Given the description of an element on the screen output the (x, y) to click on. 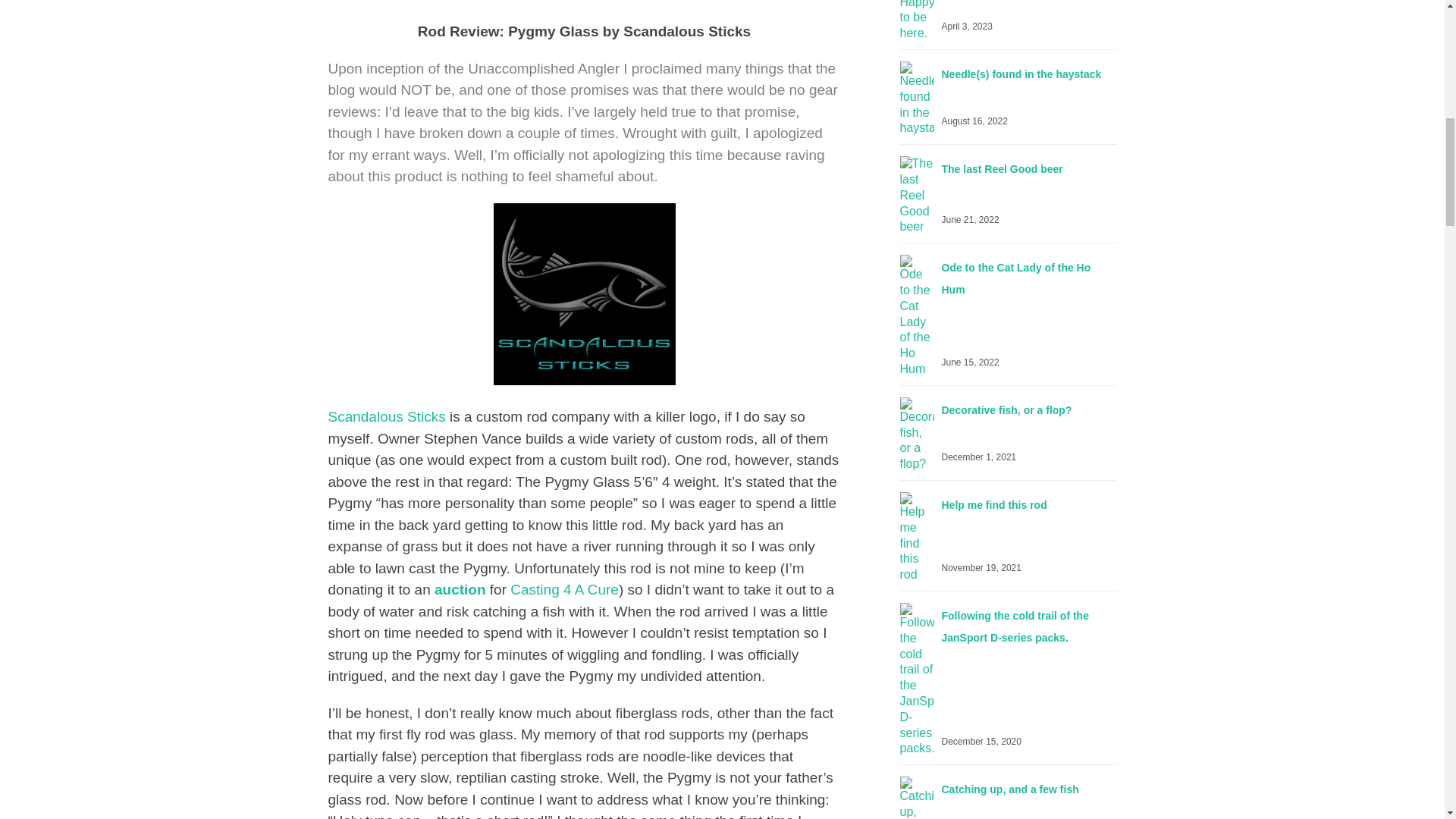
Casting 4 A Cure (564, 589)
auction (459, 589)
Permalink to Ode to the Cat Lady of the Ho Hum (1016, 278)
Permalink to Help me find this rod (994, 504)
ScandalousFB (584, 293)
Permalink to The last Reel Good beer (1002, 168)
Permalink to Decorative fish, or  a flop? (1006, 410)
Scandalous Sticks (386, 416)
